Given the description of an element on the screen output the (x, y) to click on. 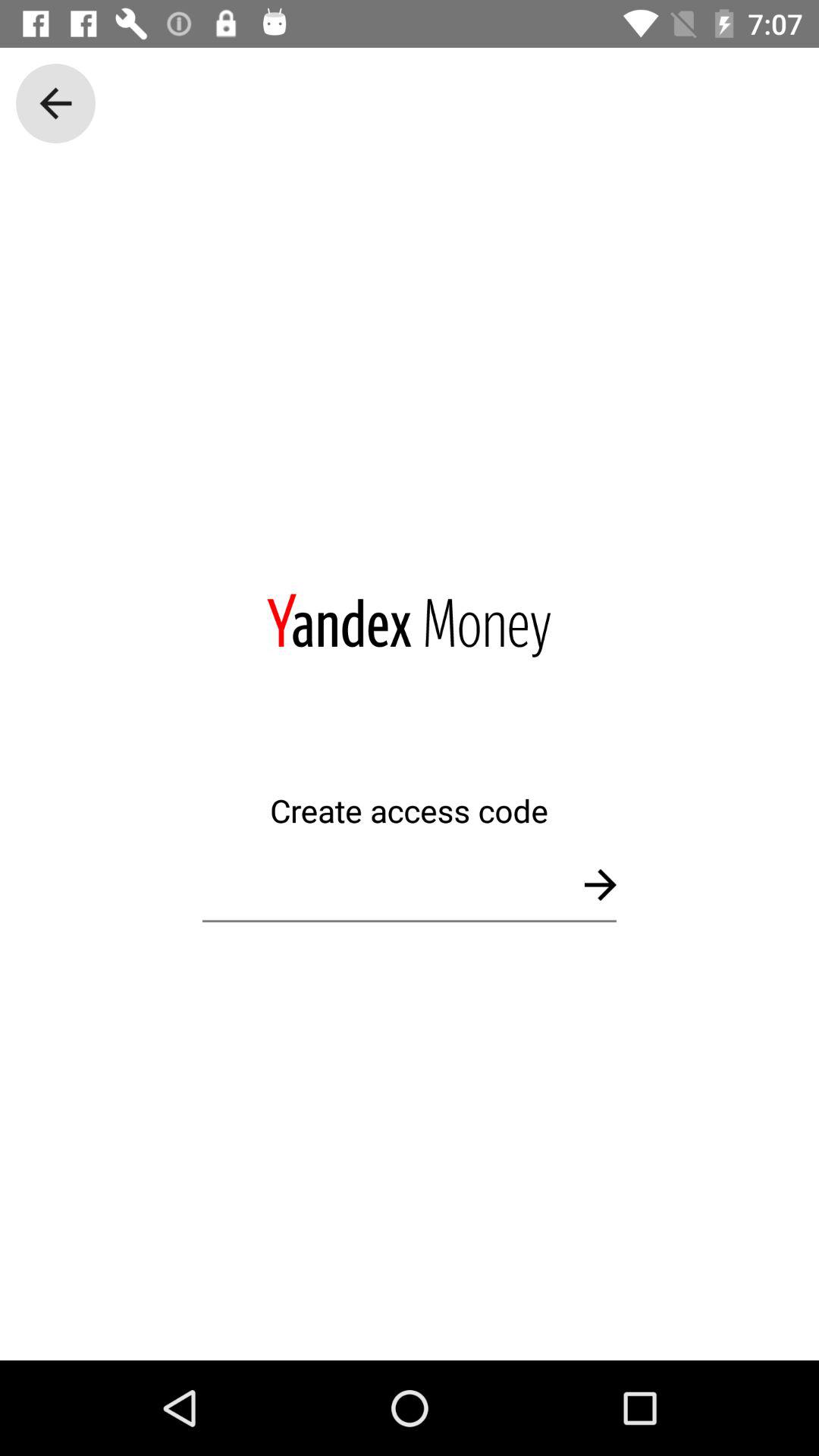
type access code (409, 884)
